Given the description of an element on the screen output the (x, y) to click on. 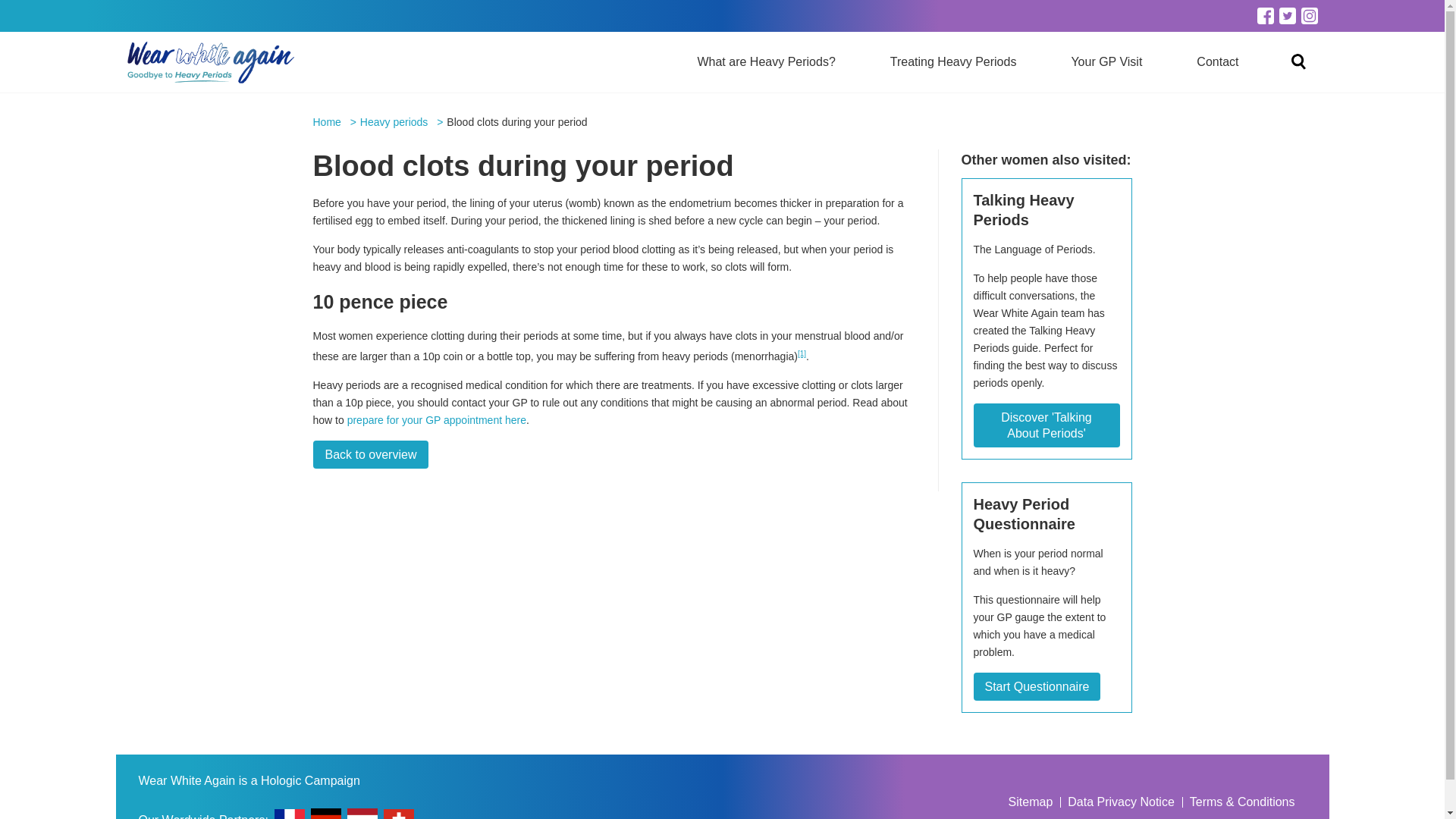
Heavy periods (393, 122)
Back to overview (370, 454)
Your GP Visit (1106, 61)
Contact (1216, 61)
Treating Heavy Periods (953, 61)
Search (873, 13)
Facebook (1265, 15)
Heavy periods. (393, 122)
Twitter (1286, 15)
Instagram (1309, 15)
Logo (211, 61)
Start Questionnaire (1037, 686)
prepare for your GP appointment here (436, 419)
Wear White Again. (326, 122)
Back to overview (370, 454)
